Given the description of an element on the screen output the (x, y) to click on. 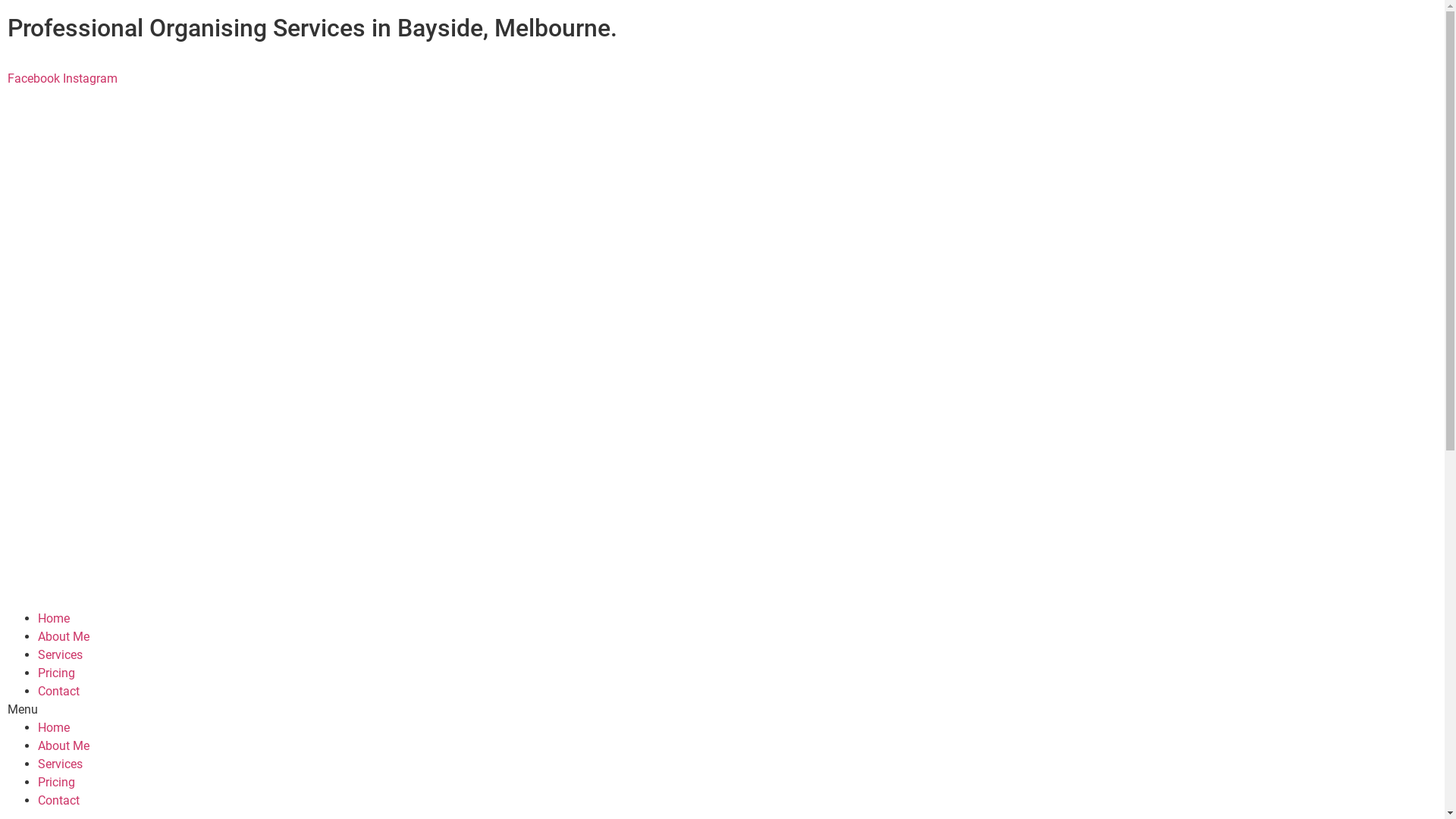
Instagram Element type: text (89, 78)
Facebook Element type: text (34, 78)
